Given the description of an element on the screen output the (x, y) to click on. 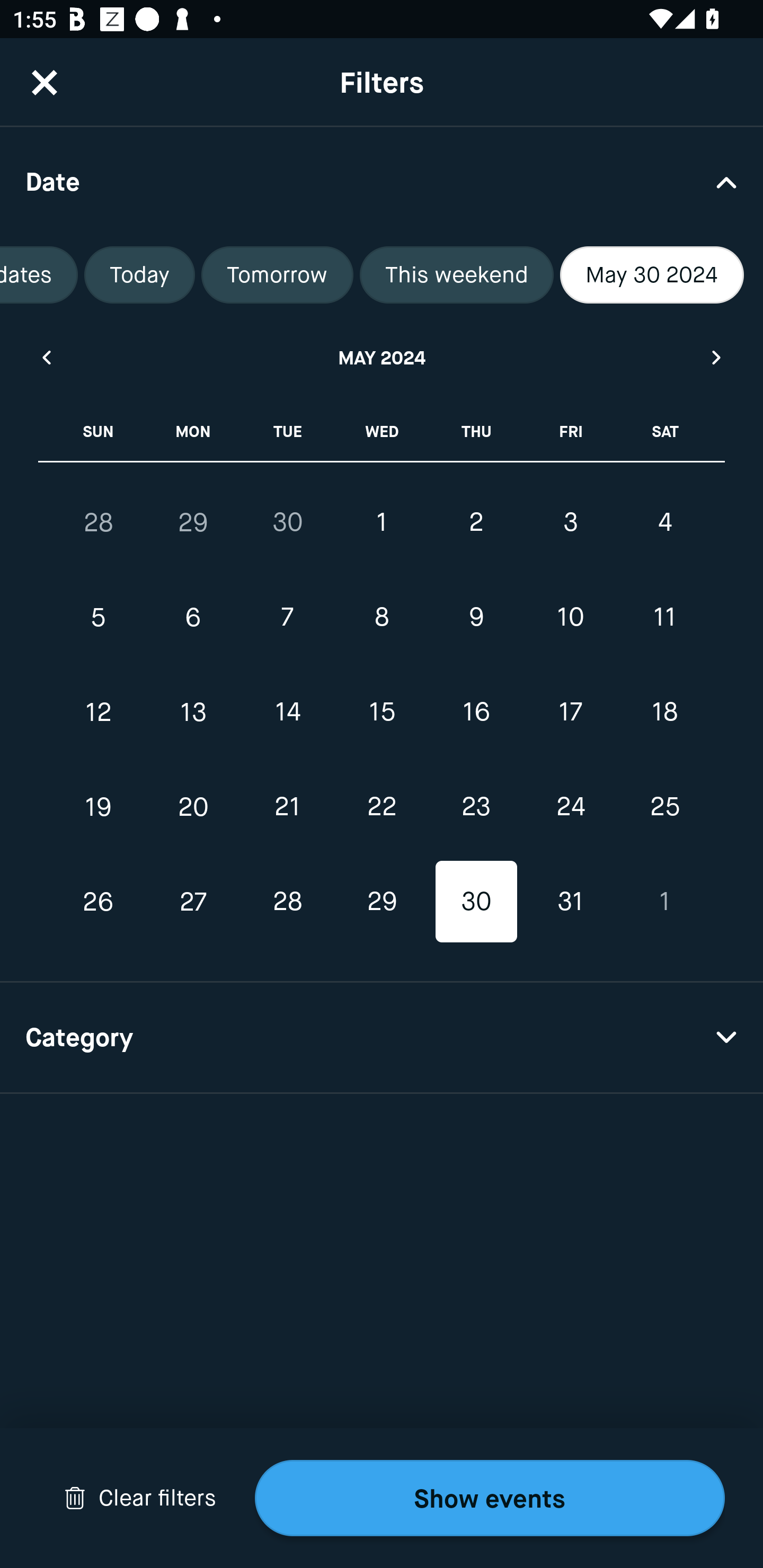
CloseButton (44, 82)
Date Drop Down Arrow (381, 181)
Today (139, 274)
Tomorrow (277, 274)
This weekend (456, 274)
May 30 2024 (651, 274)
Previous (45, 357)
Next (717, 357)
28 (98, 522)
29 (192, 522)
30 (287, 522)
1 (381, 522)
2 (475, 522)
3 (570, 522)
4 (664, 522)
5 (98, 617)
6 (192, 617)
7 (287, 617)
8 (381, 617)
9 (475, 617)
10 (570, 617)
11 (664, 617)
12 (98, 711)
13 (192, 711)
14 (287, 711)
15 (381, 711)
16 (475, 711)
17 (570, 711)
18 (664, 711)
19 (98, 806)
20 (192, 806)
21 (287, 806)
22 (381, 806)
23 (475, 806)
24 (570, 806)
25 (664, 806)
26 (98, 901)
27 (192, 901)
28 (287, 901)
29 (381, 901)
30 (475, 901)
31 (570, 901)
1 (664, 901)
Category Drop Down Arrow (381, 1038)
Drop Down Arrow Clear filters (139, 1497)
Show events (489, 1497)
